Given the description of an element on the screen output the (x, y) to click on. 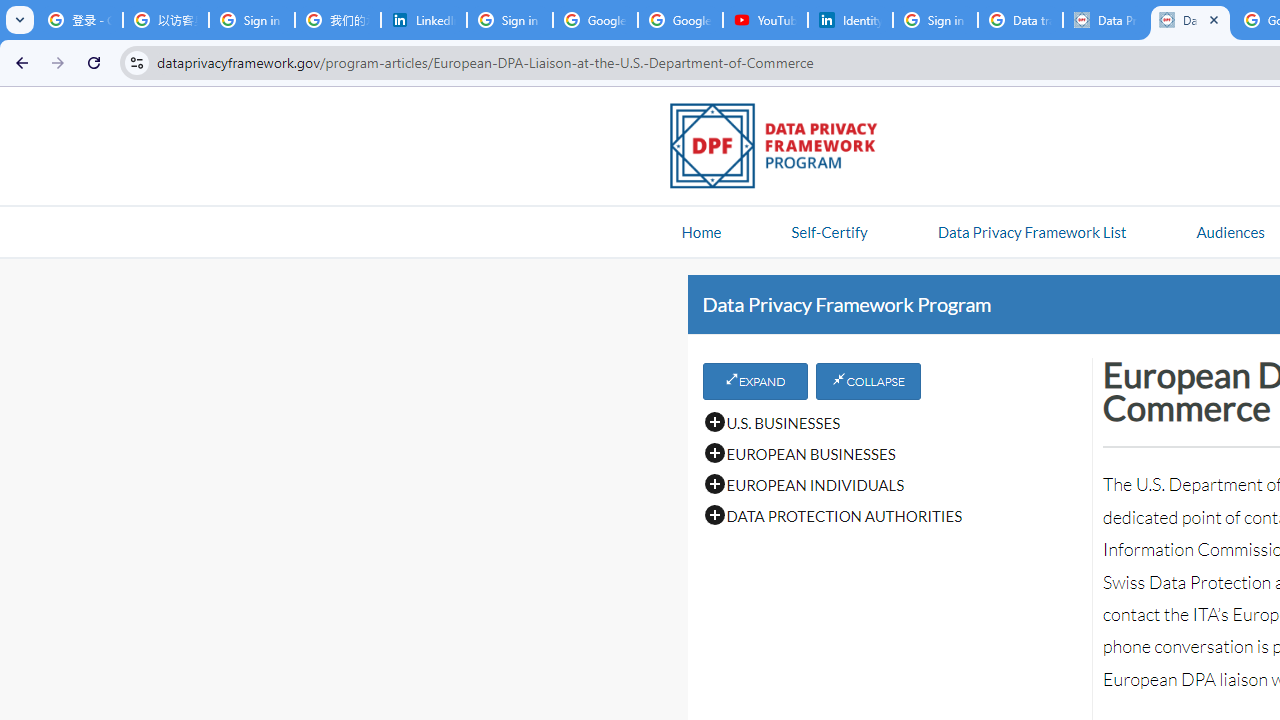
AutomationID: navitem (1230, 231)
Sign in - Google Accounts (509, 20)
Sign in - Google Accounts (251, 20)
Self-Certify (829, 231)
EXPAND (754, 381)
Data Privacy Framework (1190, 20)
Data Privacy Framework Logo - Link to Homepage (783, 149)
